Given the description of an element on the screen output the (x, y) to click on. 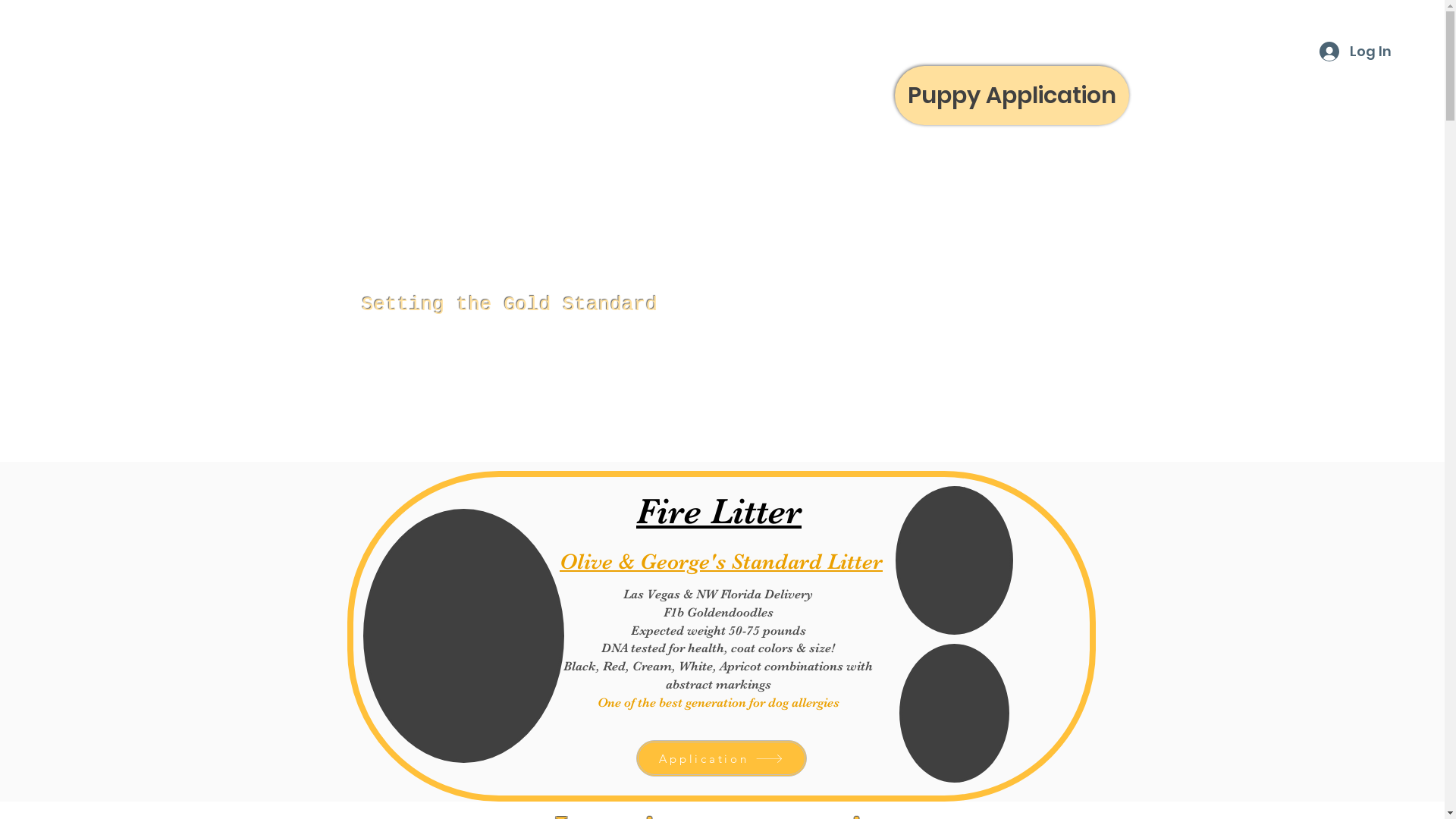
Facebook Like Element type: hover (577, 444)
Puppy Application Element type: text (1011, 95)
Fire Litter Element type: text (718, 511)
Log In Element type: text (1353, 51)
Application Element type: text (720, 758)
